Given the description of an element on the screen output the (x, y) to click on. 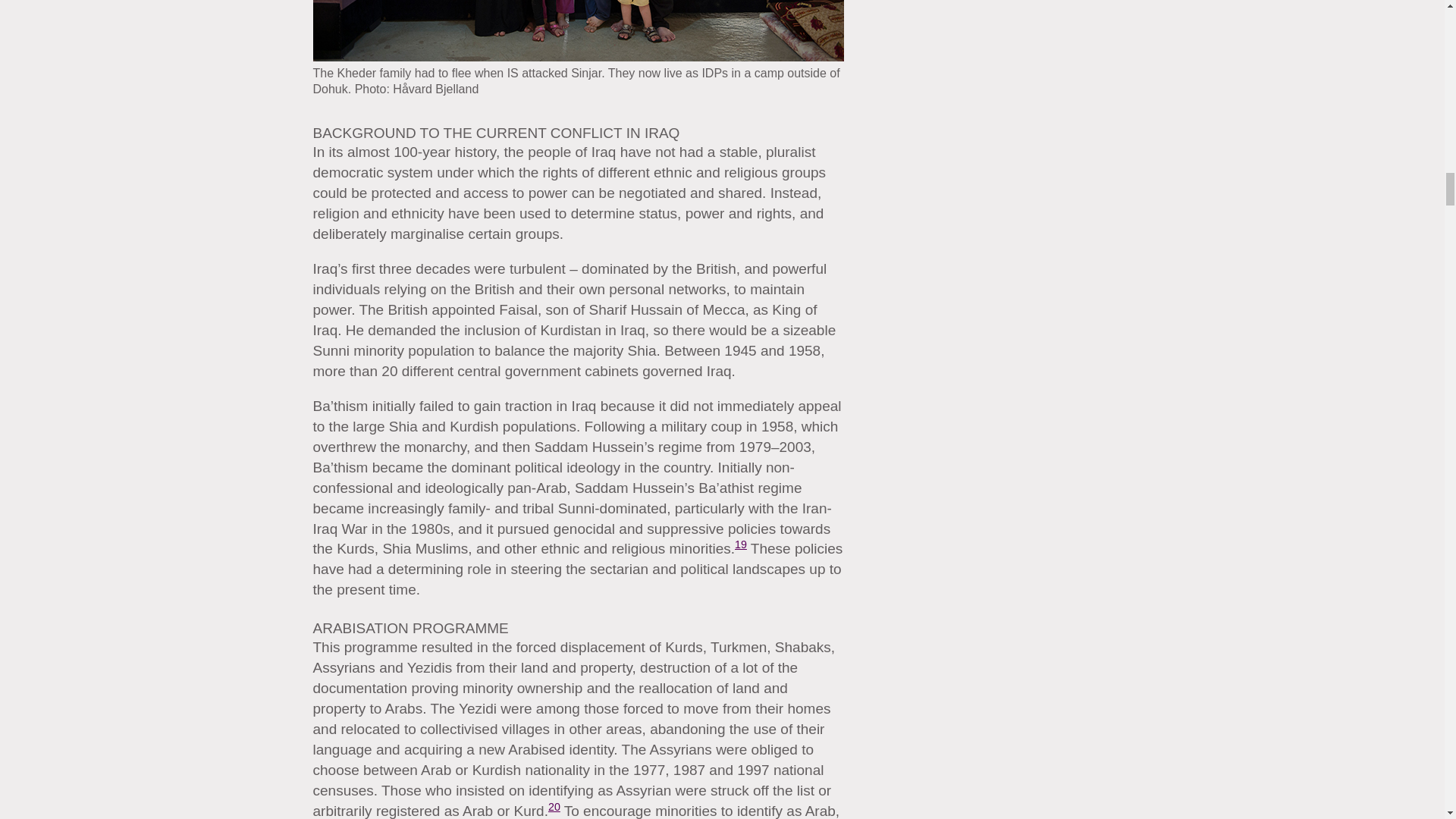
19 (740, 544)
20 (554, 806)
